Given the description of an element on the screen output the (x, y) to click on. 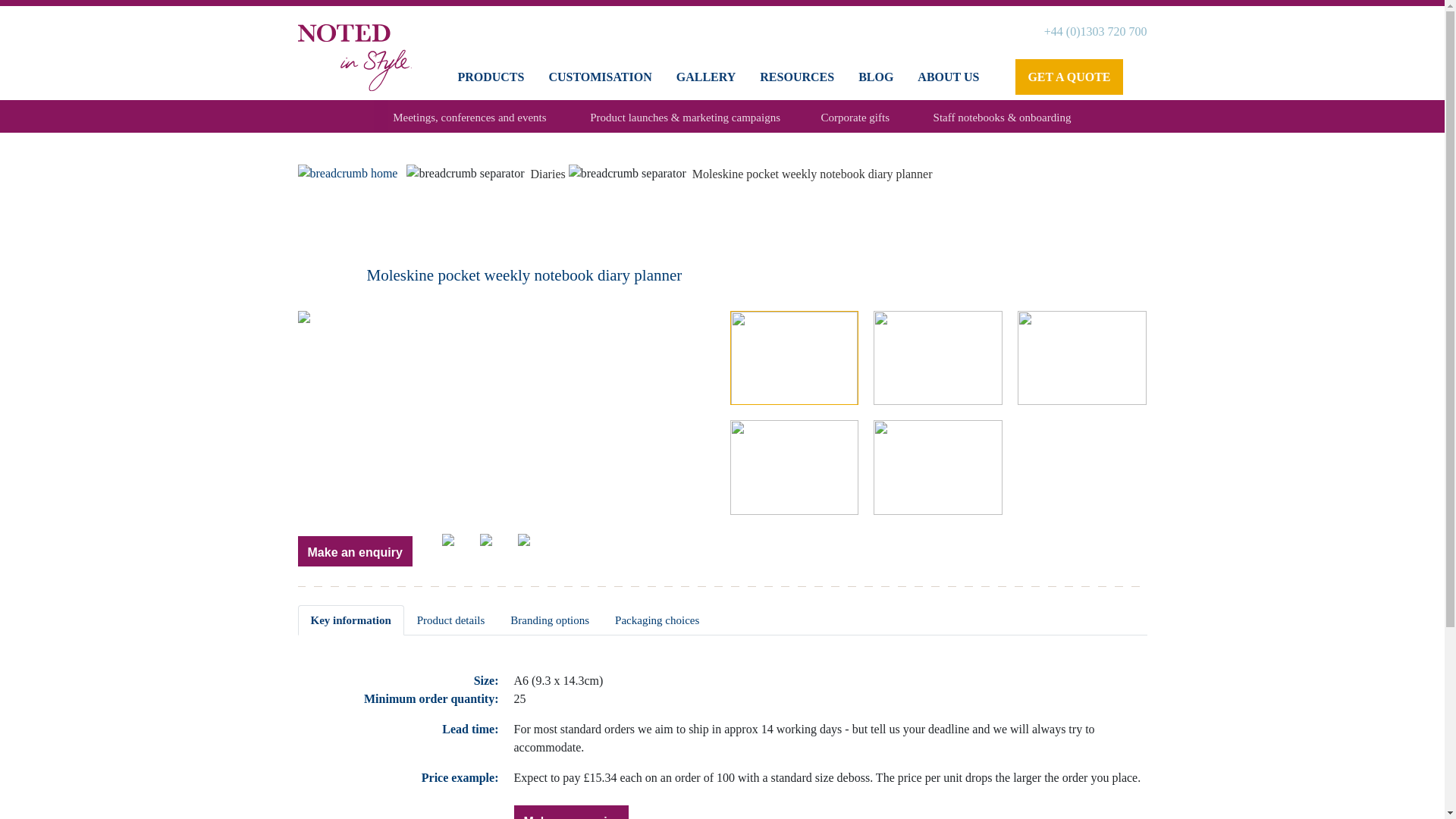
Sapphire Blue (497, 548)
Scarlet Red (460, 548)
CUSTOMISATION (599, 78)
PRODUCTS (490, 78)
Black (535, 548)
